Given the description of an element on the screen output the (x, y) to click on. 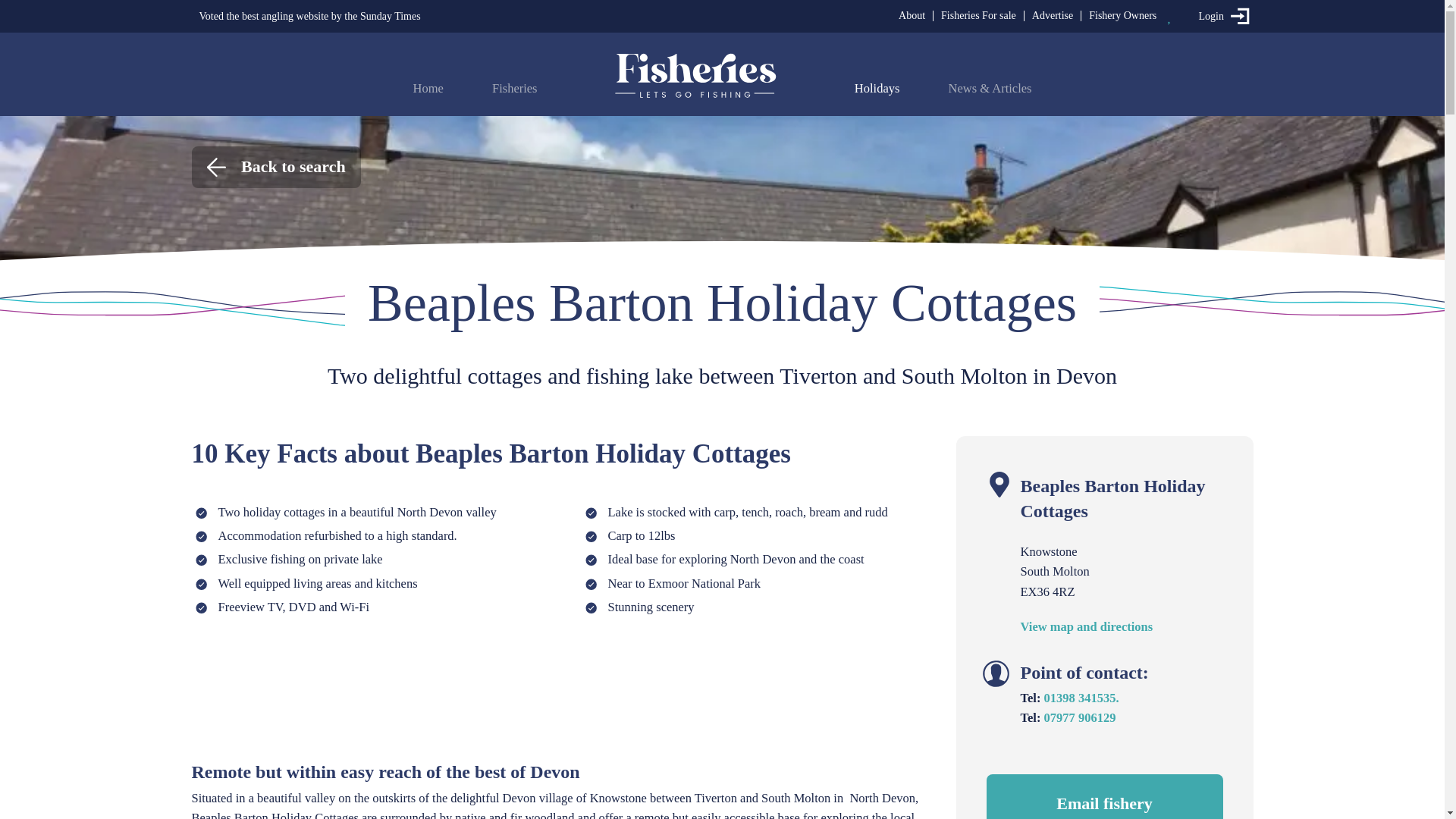
Fishery Owners (1122, 15)
Advertise (1052, 15)
Home (427, 88)
Fisheries For sale (978, 15)
Holidays (876, 88)
About (911, 15)
Fisheries (514, 88)
